Given the description of an element on the screen output the (x, y) to click on. 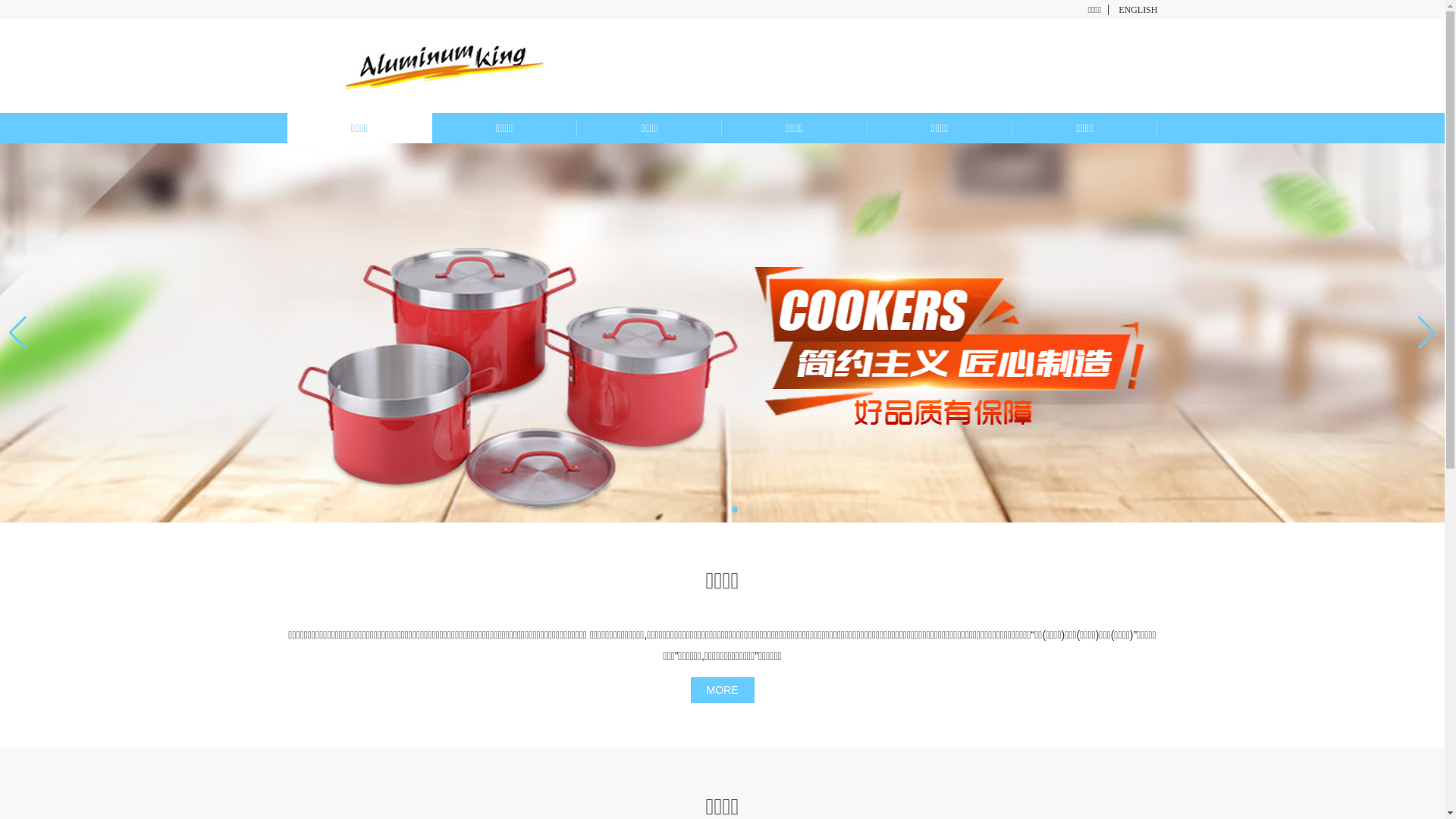
MORE Element type: text (721, 689)
ENGLISH Element type: text (1137, 9)
